Given the description of an element on the screen output the (x, y) to click on. 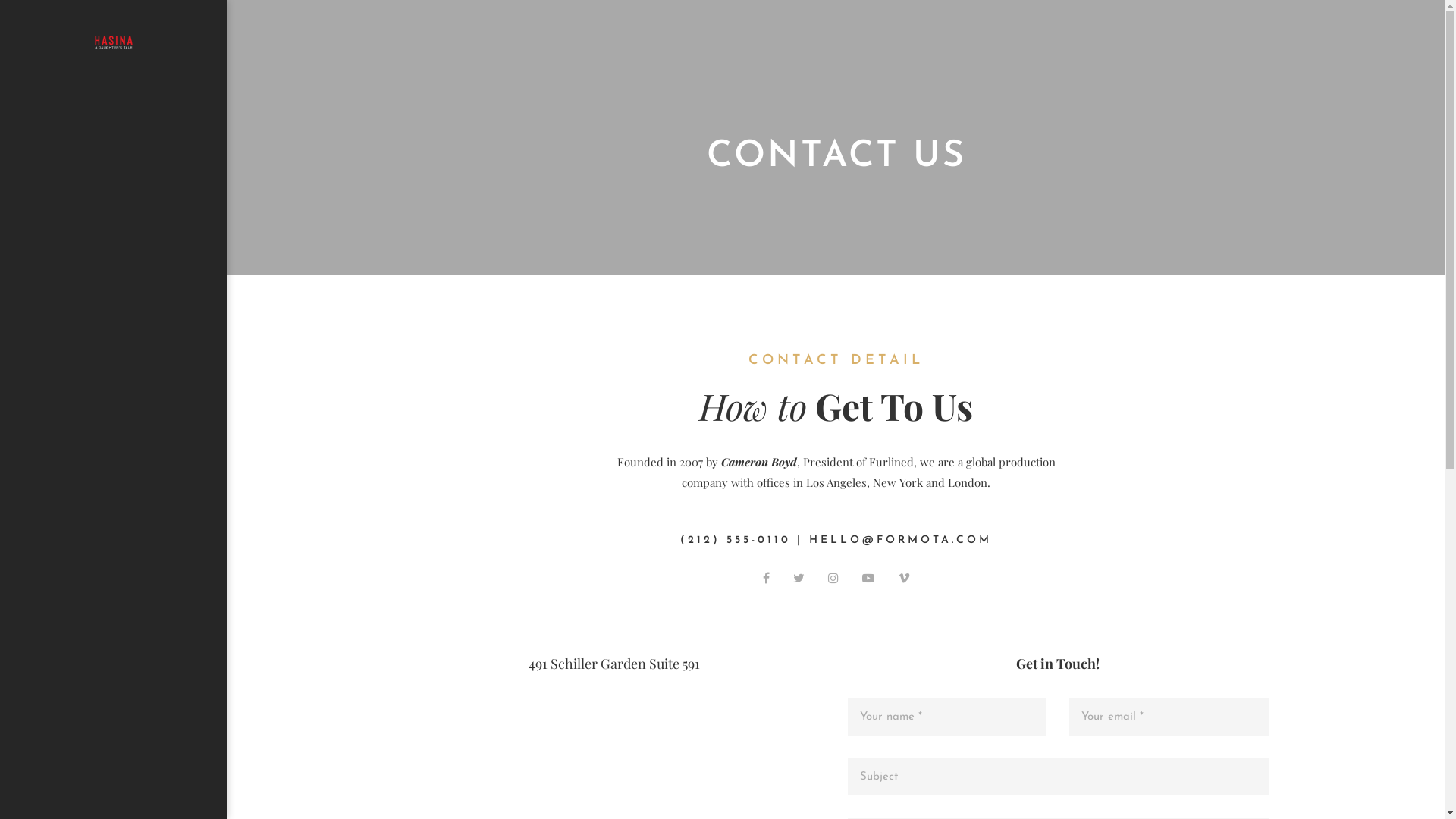
Docu Drama - Hasina: A Daughter's Tale Element type: hover (113, 41)
